Given the description of an element on the screen output the (x, y) to click on. 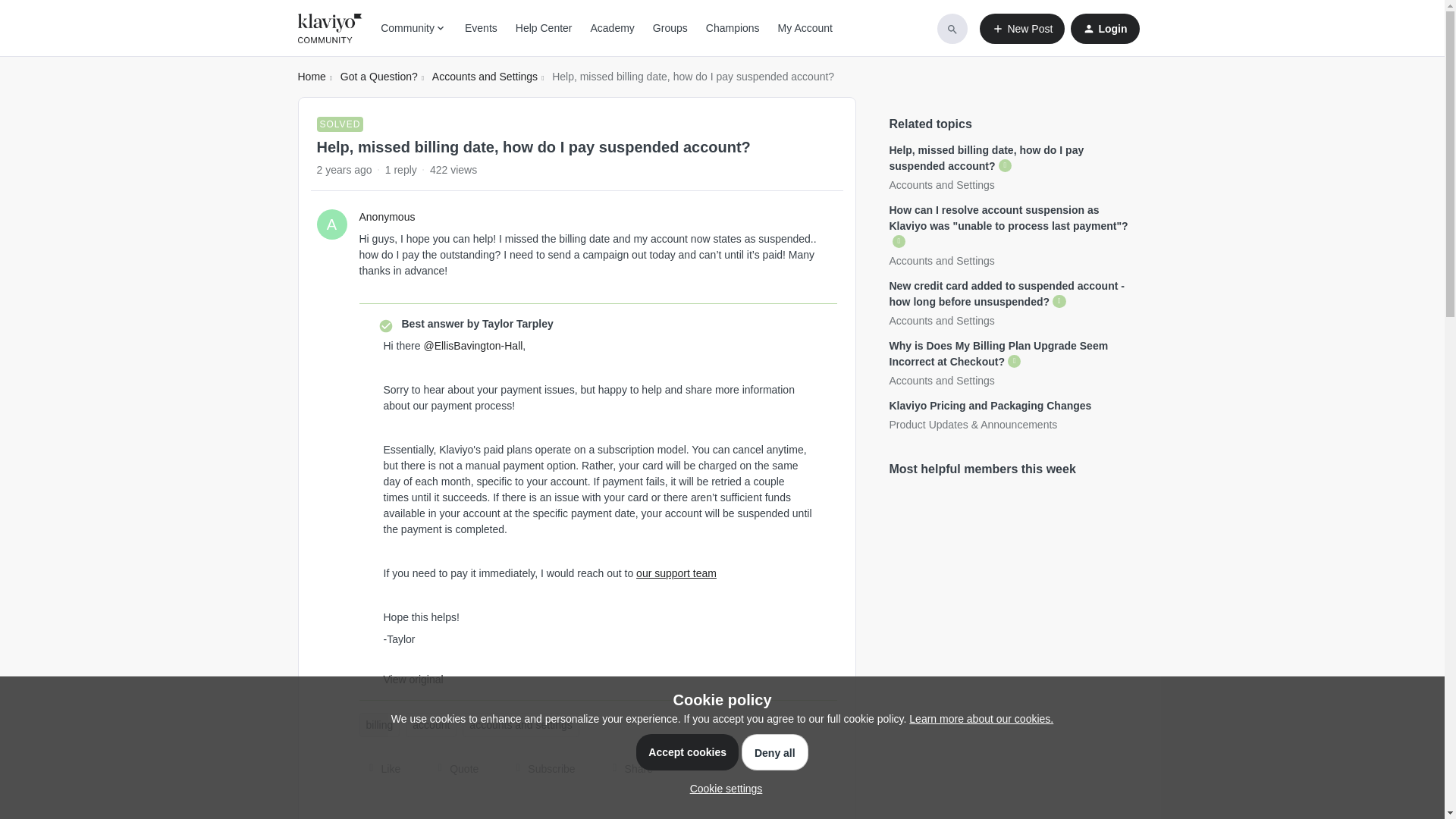
Champions (733, 28)
Groups (669, 28)
My Account (804, 28)
New Post (1021, 28)
Home (310, 76)
Events (480, 28)
Help Center (543, 28)
Academy (611, 28)
Login (1104, 28)
Community (413, 28)
